Given the description of an element on the screen output the (x, y) to click on. 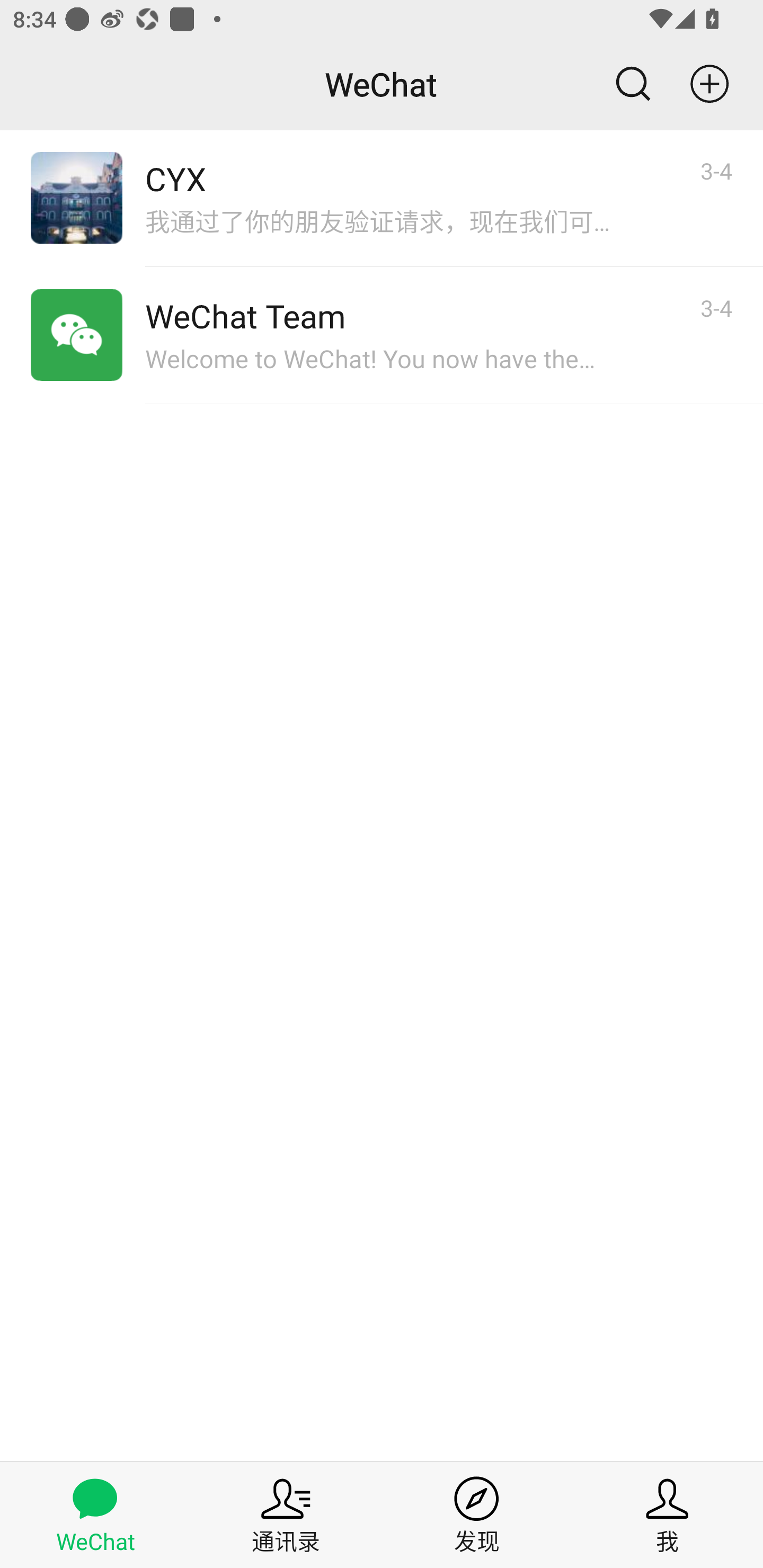
WeChat 搜索 更多功能按钮 (381, 83)
CYX 3-4 我通过了你的朋友验证请求，现在我们可… (381, 198)
WeChat (95, 1514)
通讯录 (285, 1514)
发现 (476, 1514)
我 (667, 1514)
